Given the description of an element on the screen output the (x, y) to click on. 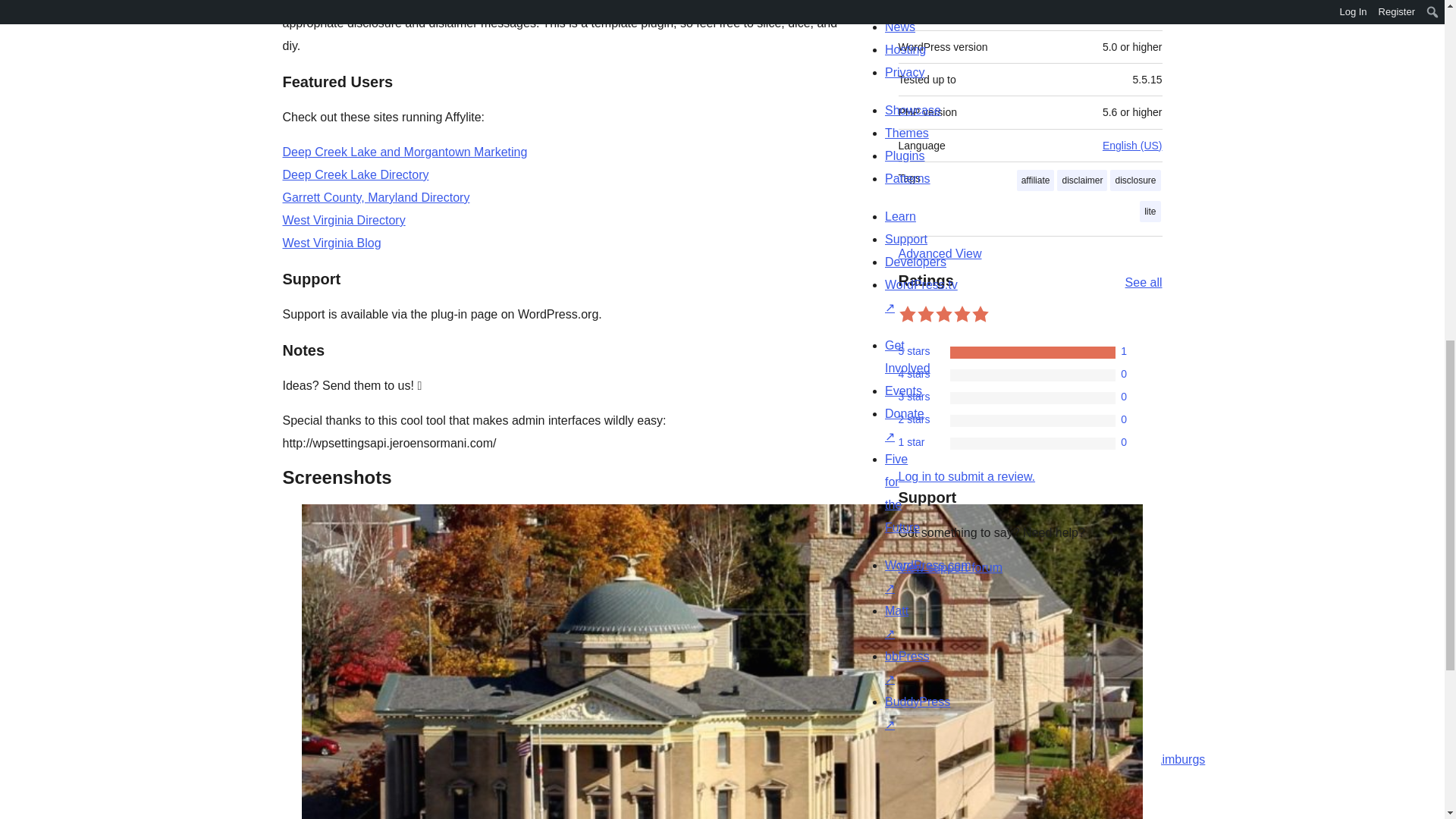
WordPress.org (1014, 755)
Garrett County, Maryland Directory (375, 196)
West Virginia Blog (331, 242)
Deep Creek Lake Directory (355, 174)
Deep Creek Lake Directory (355, 174)
Garrett County, Maryland Directory (375, 196)
West Virginia Directory (343, 219)
Deep Creek Lake and Morgantown Marketing (404, 151)
West Virginia Directory (343, 219)
West Virginia Blog (331, 242)
